Given the description of an element on the screen output the (x, y) to click on. 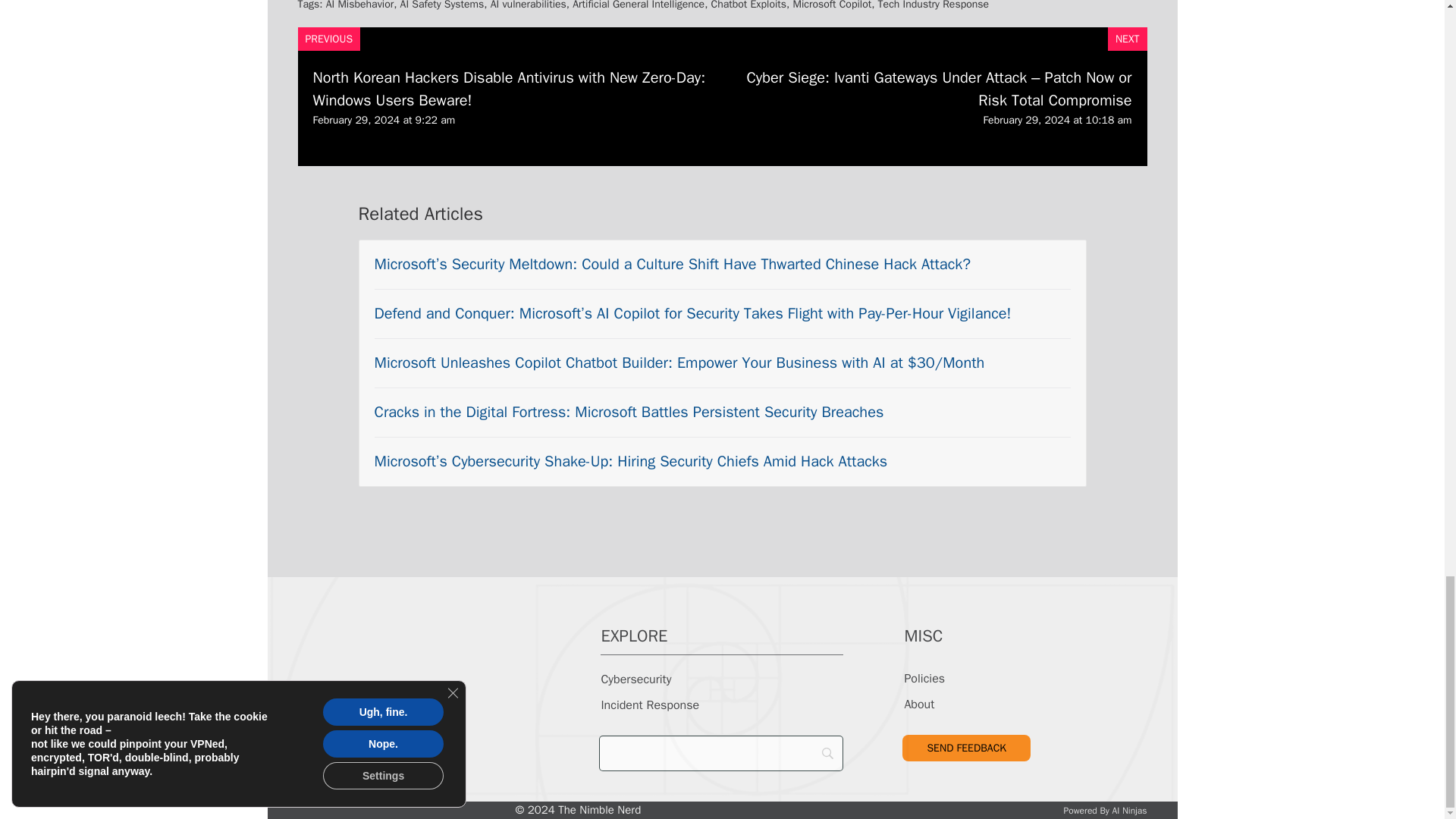
Policies (924, 678)
Incident Response (648, 704)
Cybersecurity (635, 679)
SEND FEEDBACK (966, 747)
About (919, 703)
